Given the description of an element on the screen output the (x, y) to click on. 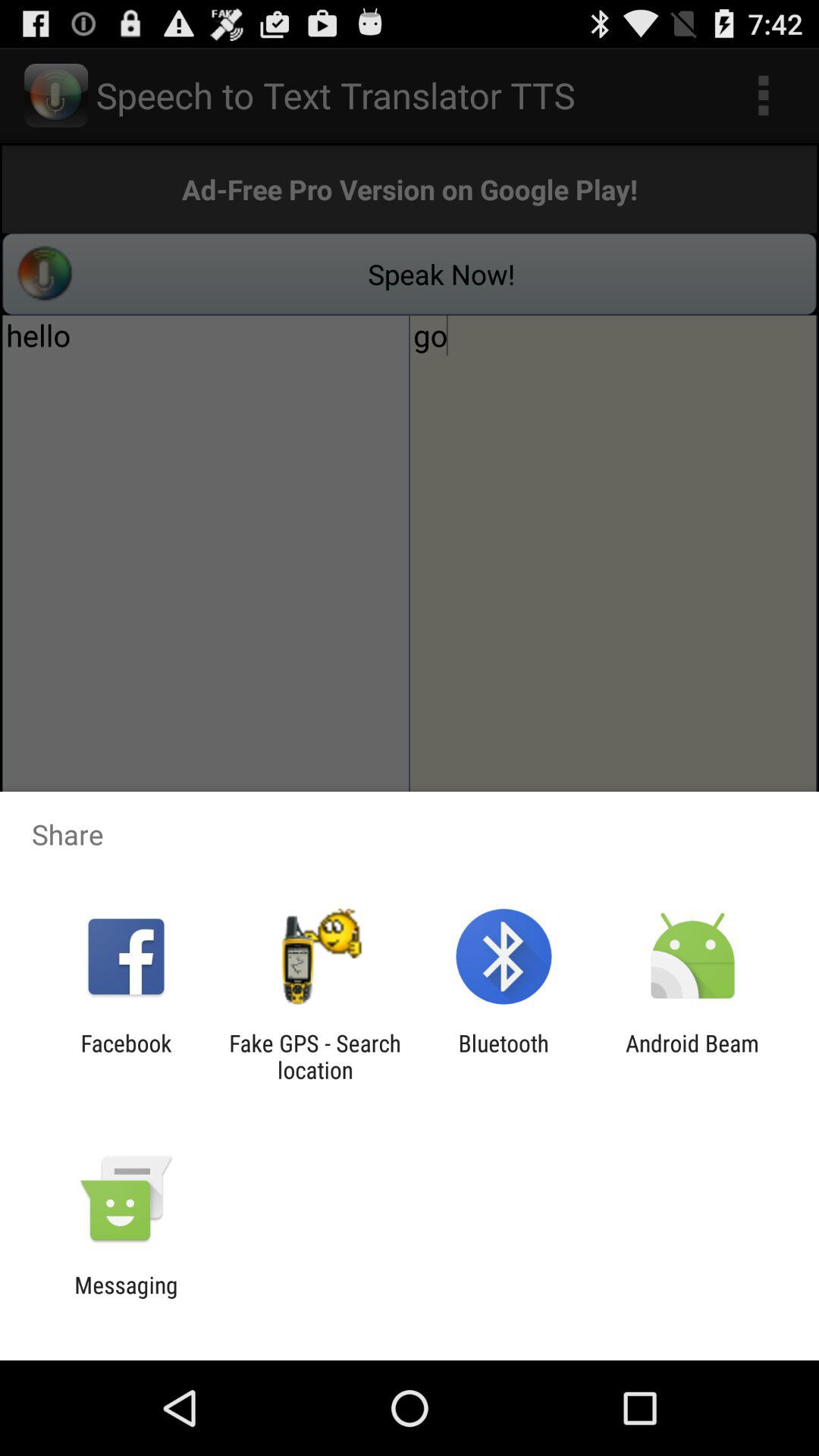
jump to messaging (126, 1298)
